Given the description of an element on the screen output the (x, y) to click on. 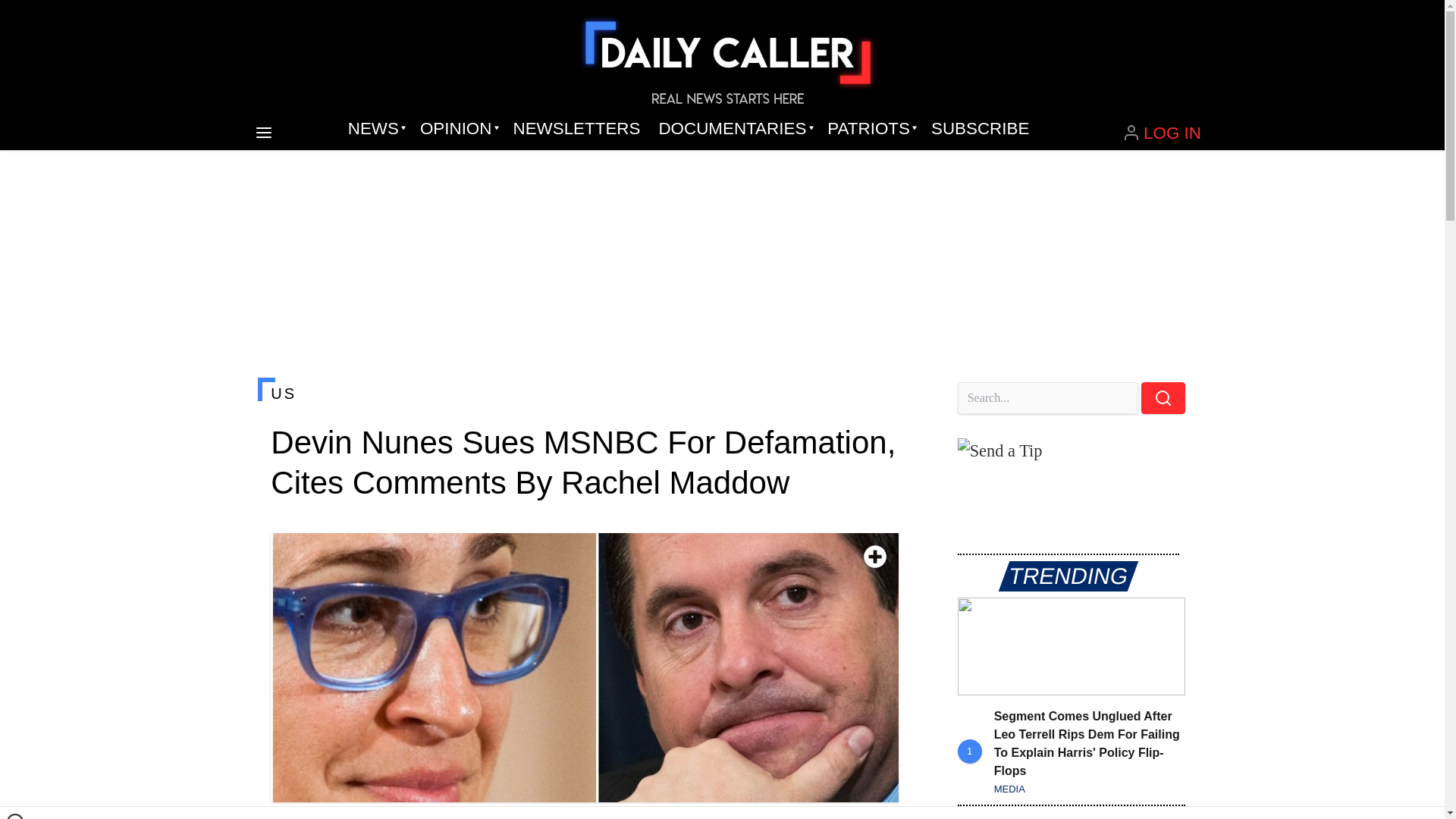
NEWS (374, 128)
OPINION (456, 128)
NEWSLETTERS (576, 128)
SUBSCRIBE (979, 128)
PATRIOTS (869, 128)
Close window (14, 816)
US (584, 393)
DOCUMENTARIES (733, 128)
